Given the description of an element on the screen output the (x, y) to click on. 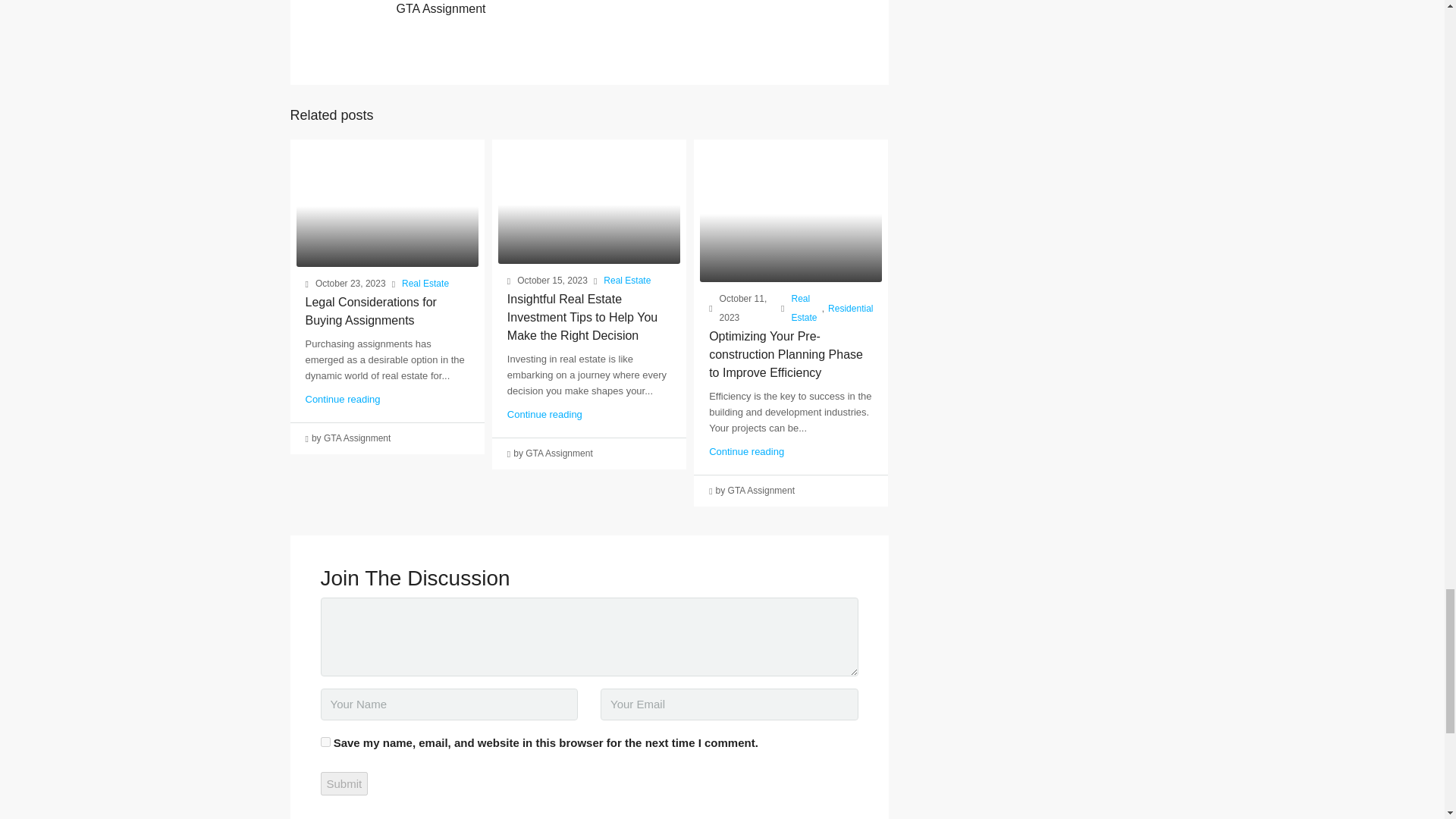
Submit (344, 783)
yes (325, 741)
